Given the description of an element on the screen output the (x, y) to click on. 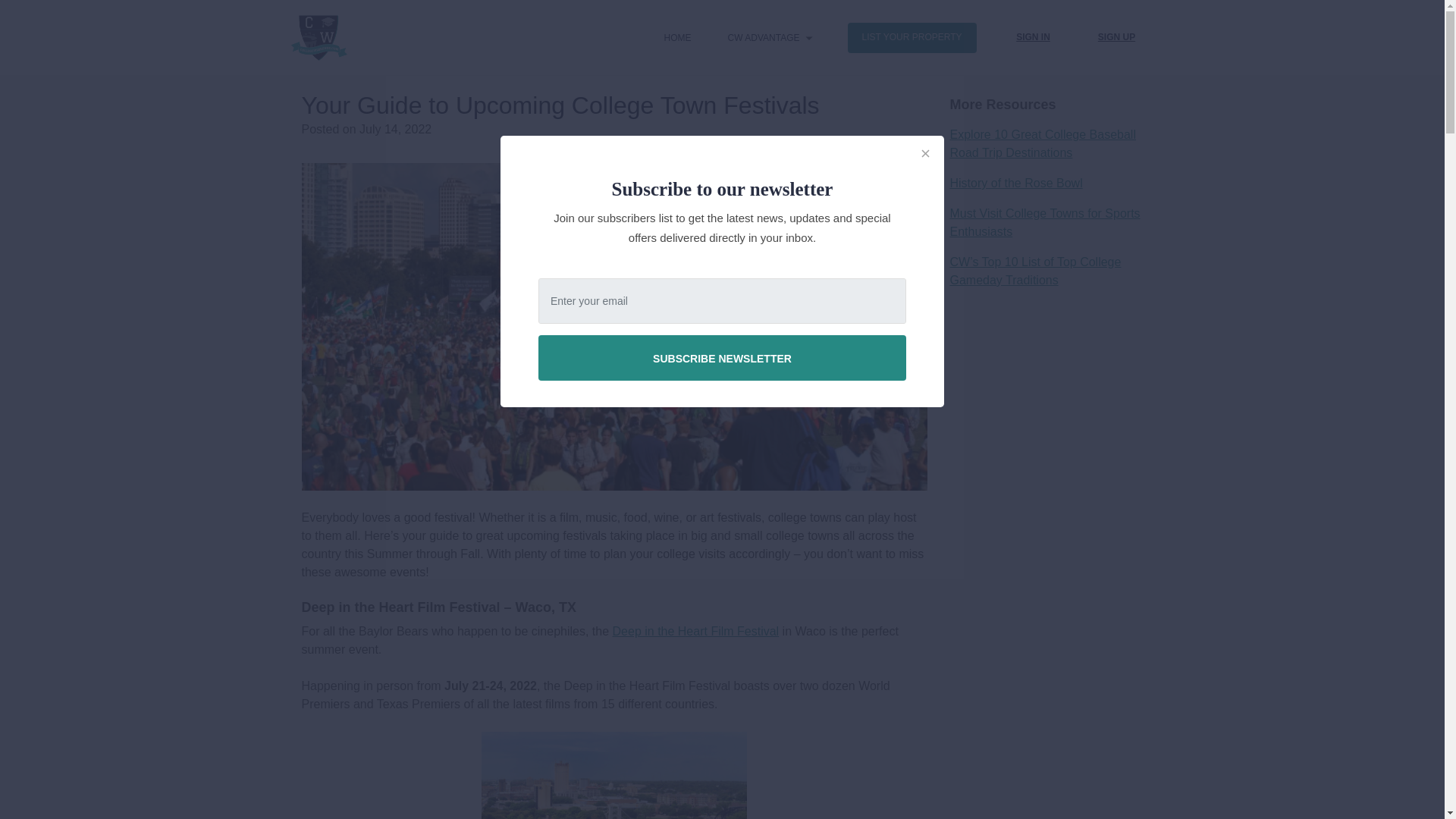
Deep in the Heart Film Festival (695, 631)
LIST YOUR PROPERTY (911, 37)
Subscribe Newsletter (721, 357)
SIGN UP (1116, 37)
CW ADVANTAGE (763, 37)
SIGN IN (1032, 37)
